Given the description of an element on the screen output the (x, y) to click on. 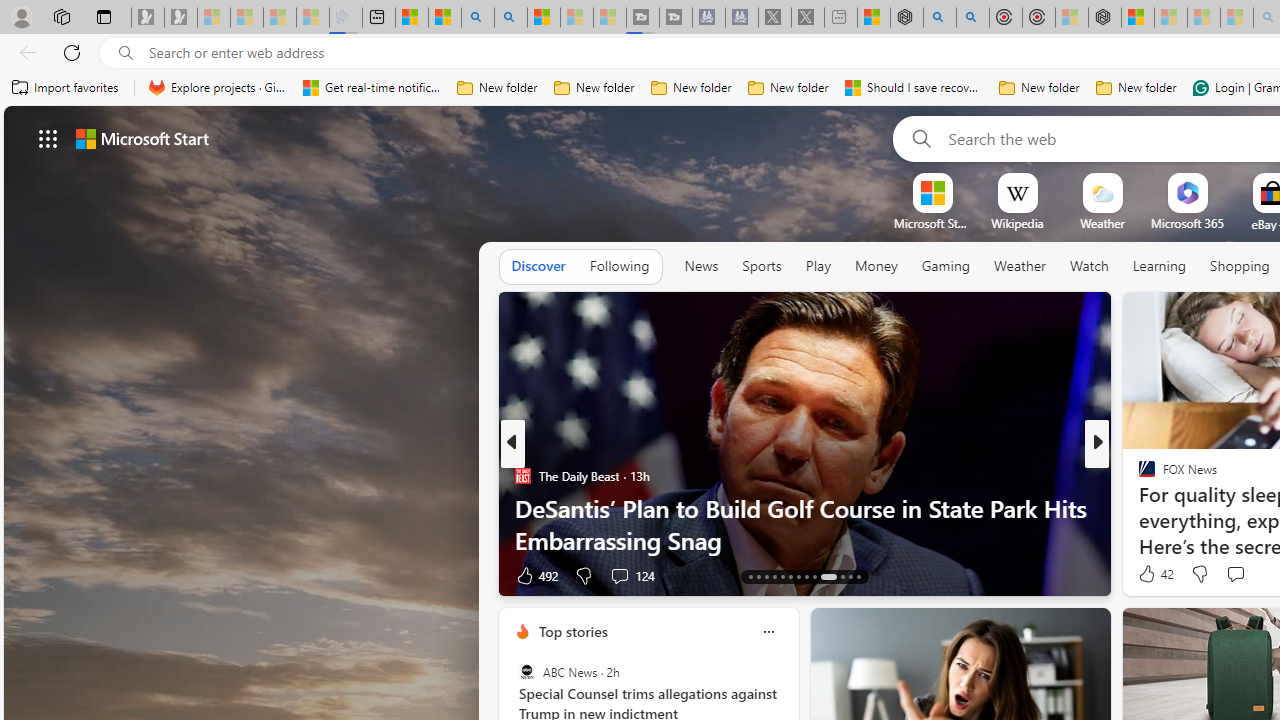
AutomationID: tab-19 (797, 576)
Nordace - Nordace Siena Is Not An Ordinary Backpack (1105, 17)
Import favorites (65, 88)
View comments 1 Comment (11, 575)
View comments 4 Comment (1234, 574)
272 Like (1151, 574)
Money (876, 267)
